Given the description of an element on the screen output the (x, y) to click on. 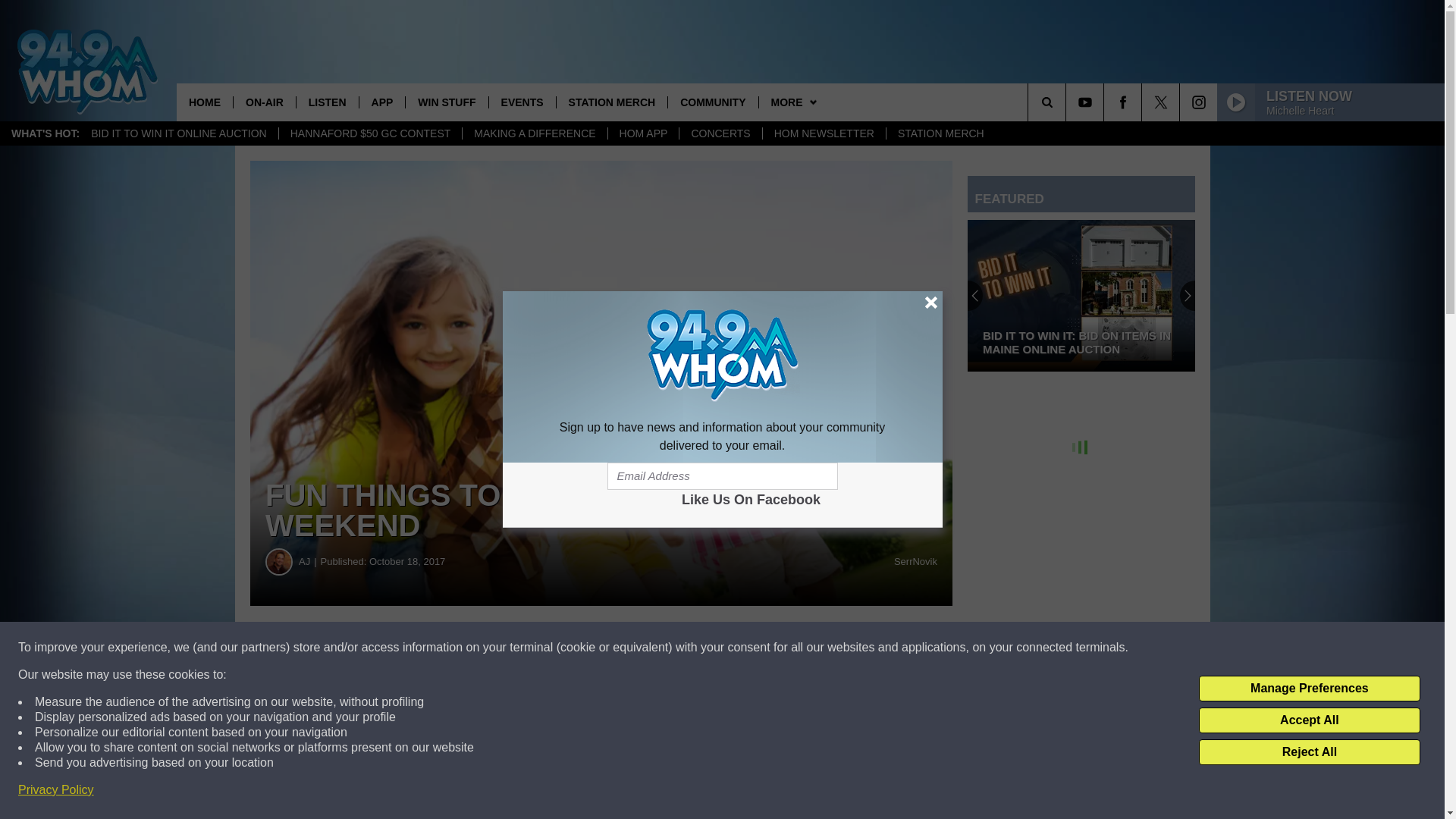
LISTEN (326, 102)
HOM APP (643, 133)
BID IT TO WIN IT ONLINE AUCTION (179, 133)
MAKING A DIFFERENCE (534, 133)
Email Address (722, 475)
CONCERTS (719, 133)
SEARCH (1068, 102)
HOME (204, 102)
WIN STUFF (445, 102)
Manage Preferences (1309, 688)
SEARCH (1068, 102)
Accept All (1309, 720)
Privacy Policy (55, 789)
HOM NEWSLETTER (823, 133)
ON-AIR (263, 102)
